Given the description of an element on the screen output the (x, y) to click on. 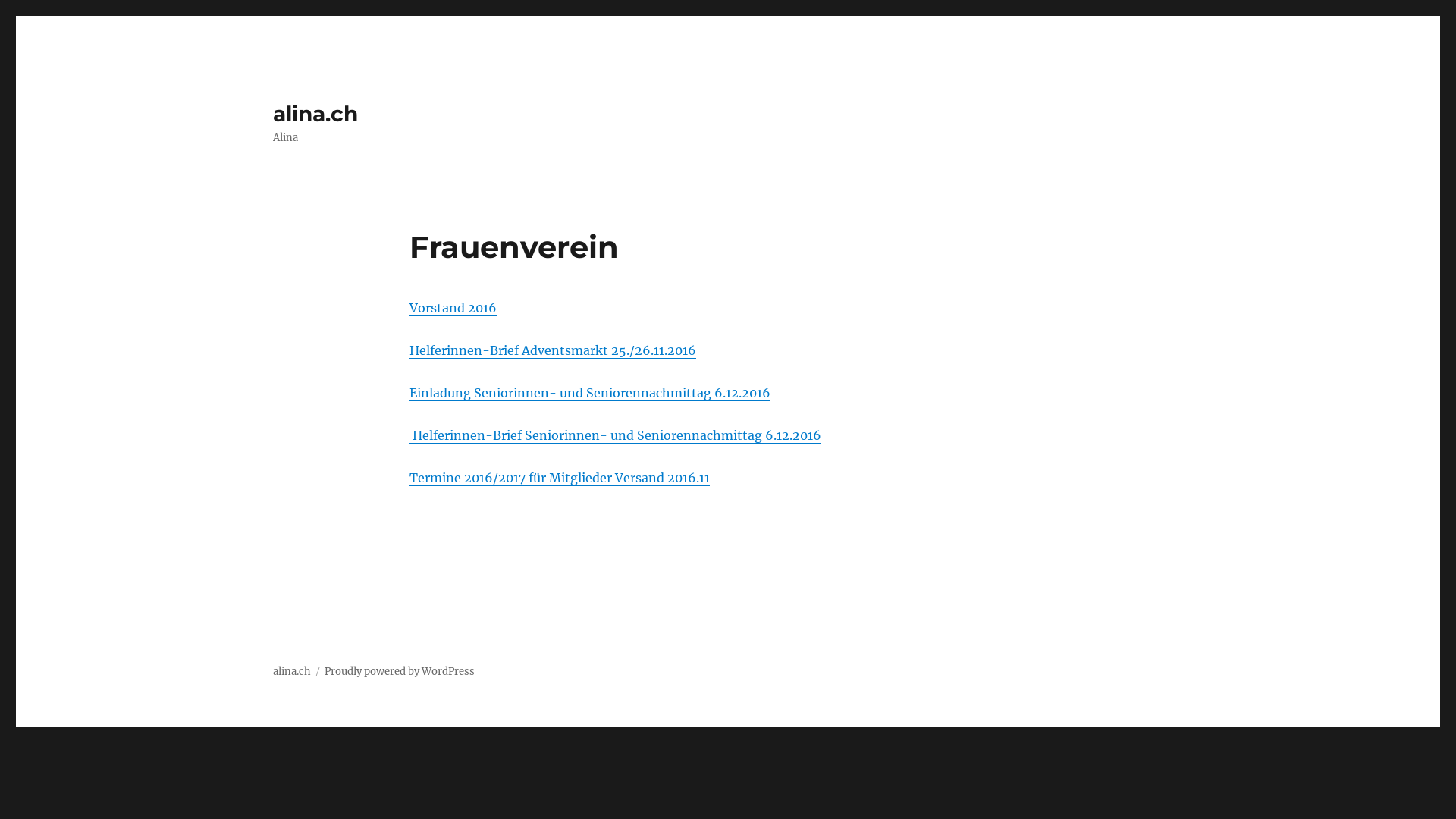
Helferinnen-Brief Adventsmarkt 25./26.11.2016 Element type: text (552, 349)
Vorstand 2016 Element type: text (452, 307)
alina.ch Element type: text (315, 113)
Einladung Seniorinnen- und Seniorennachmittag 6.12.2016 Element type: text (589, 392)
alina.ch Element type: text (291, 671)
Proudly powered by WordPress Element type: text (399, 671)
